Given the description of an element on the screen output the (x, y) to click on. 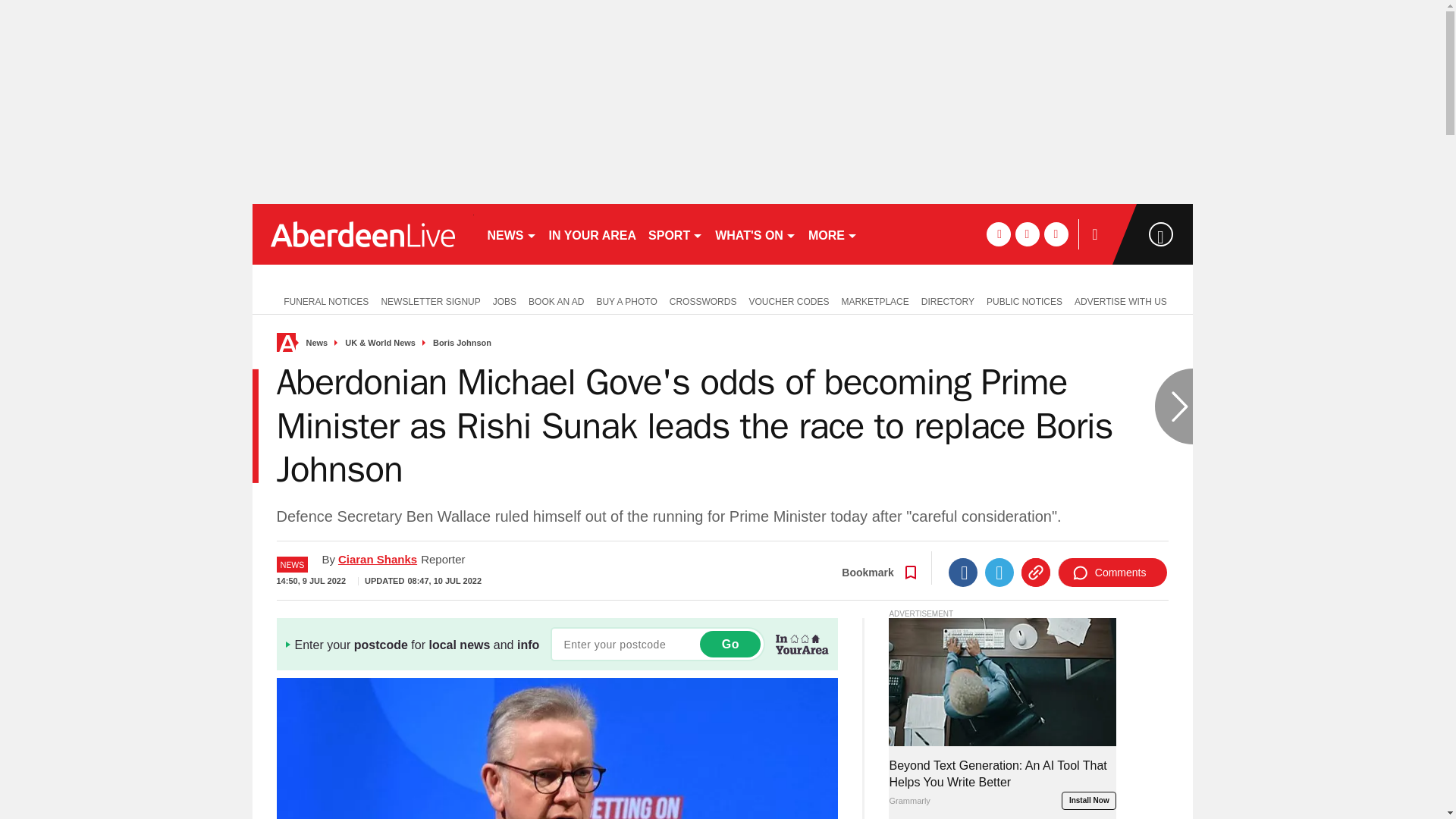
BOOK AN AD (555, 300)
JOBS (504, 300)
Twitter (999, 572)
twitter (1026, 233)
FUNERAL NOTICES (322, 300)
Facebook (962, 572)
instagram (1055, 233)
MORE (832, 233)
IN YOUR AREA (593, 233)
facebook (997, 233)
WHAT'S ON (755, 233)
BUY A PHOTO (625, 300)
SPORT (675, 233)
NEWSLETTER SIGNUP (430, 300)
Go (730, 643)
